Given the description of an element on the screen output the (x, y) to click on. 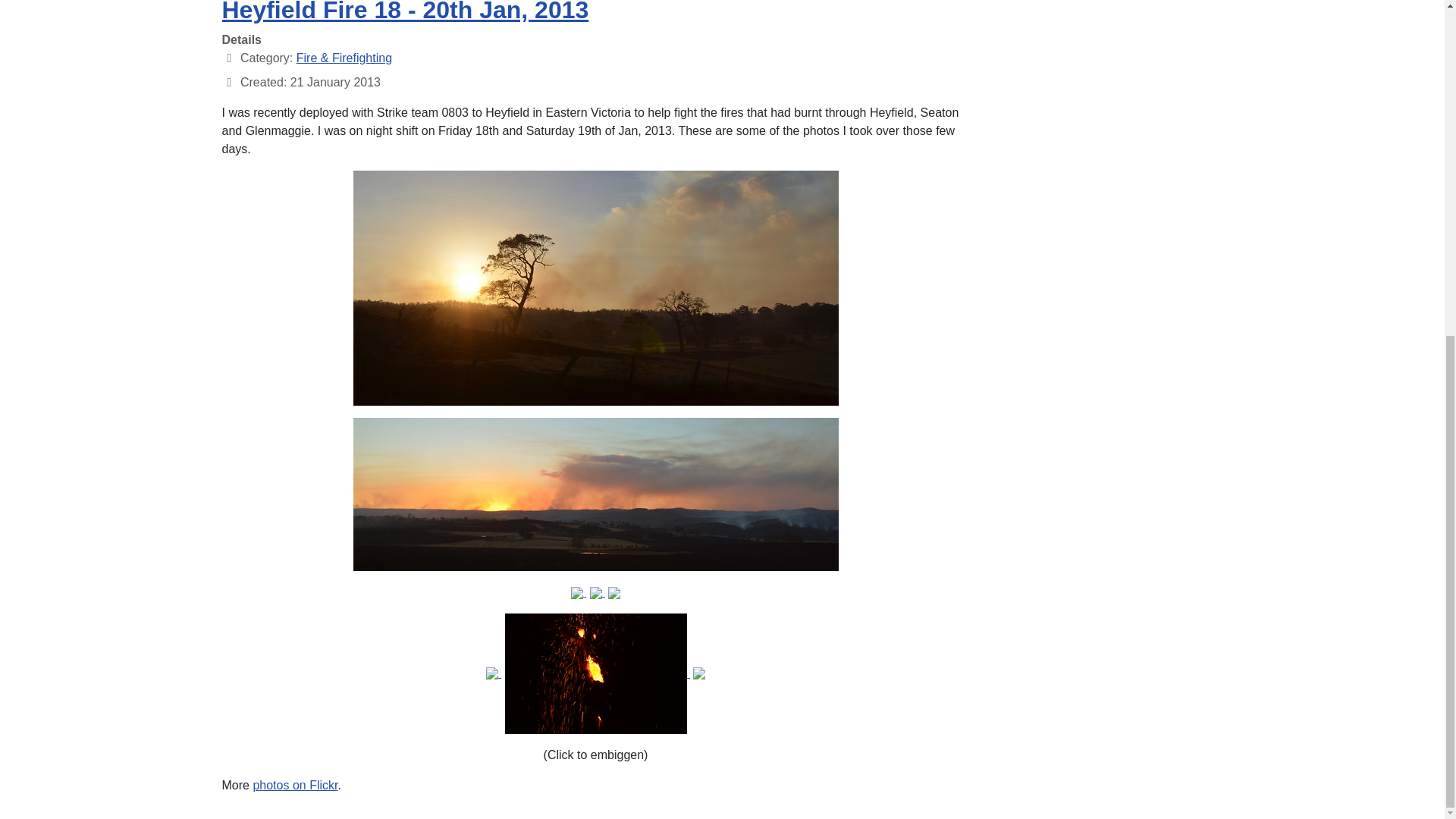
Heyfield Fire 18 - 20th Jan, 2013 (404, 11)
photos on Flickr (294, 784)
